Given the description of an element on the screen output the (x, y) to click on. 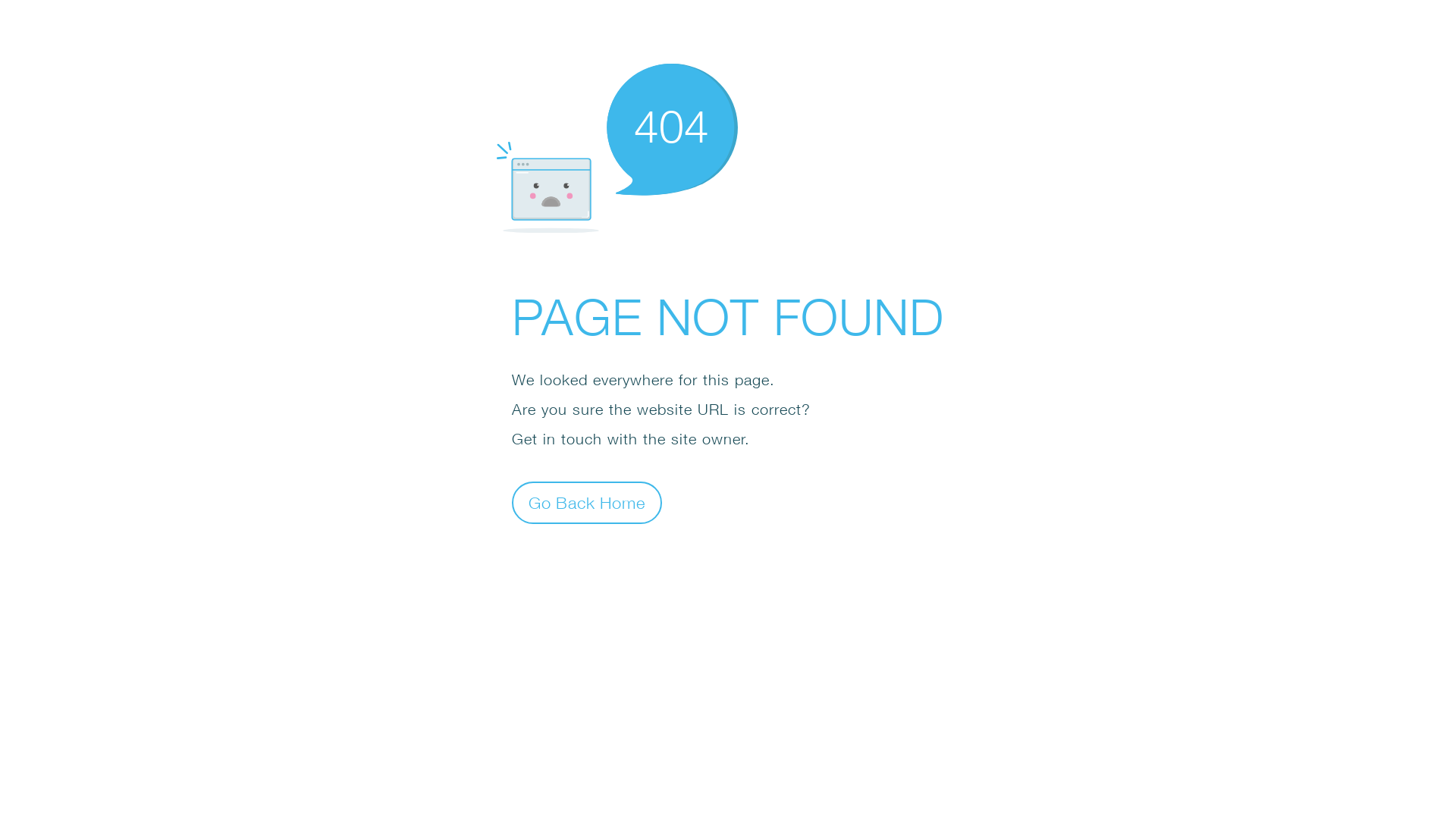
Go Back Home Element type: text (586, 502)
